Given the description of an element on the screen output the (x, y) to click on. 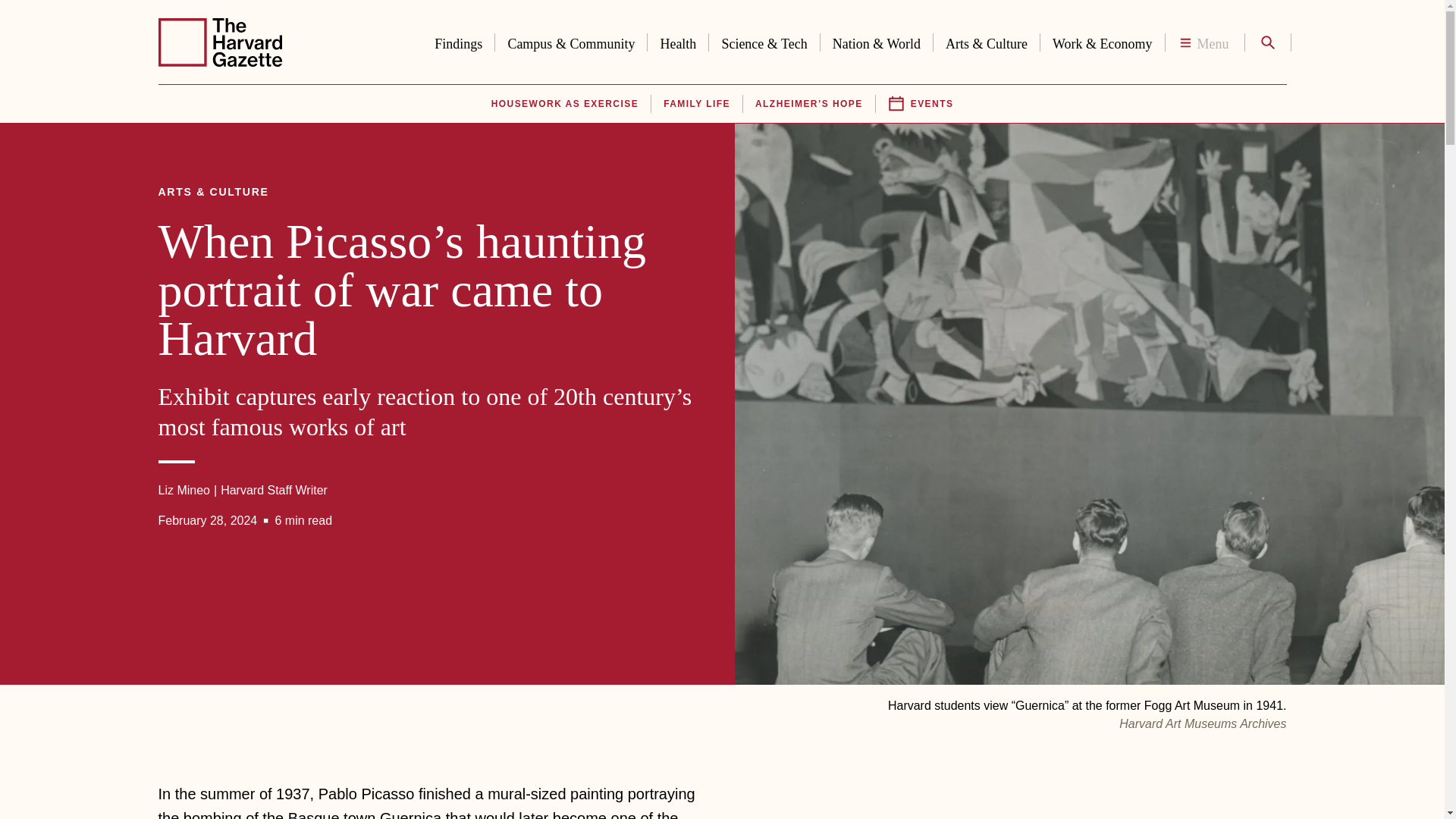
Findings (457, 41)
Menu (1204, 42)
HOUSEWORK AS EXERCISE (564, 103)
Health (677, 41)
FAMILY LIFE (697, 103)
